Given the description of an element on the screen output the (x, y) to click on. 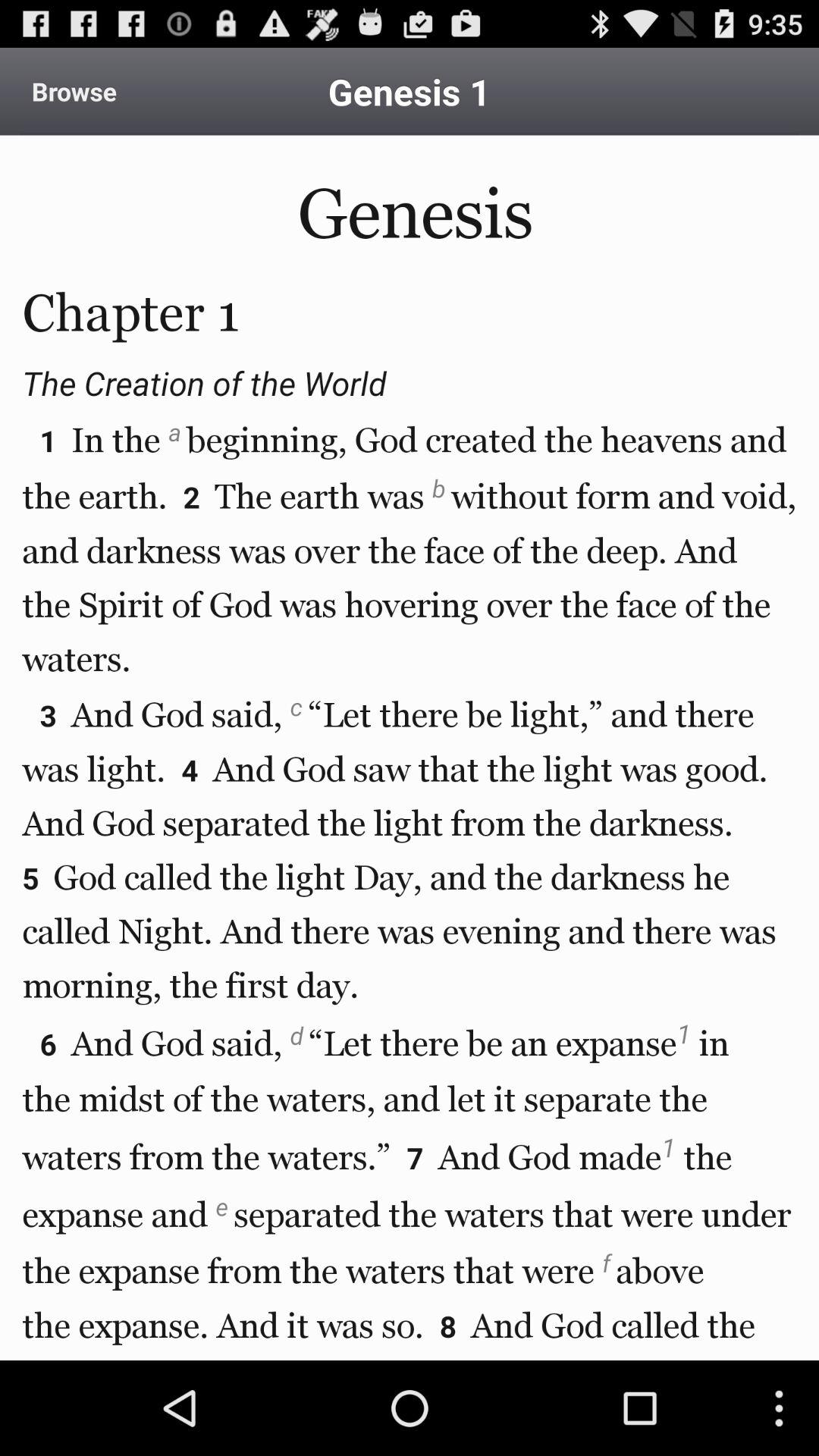
turn on item next to the genesis 1 (73, 91)
